Given the description of an element on the screen output the (x, y) to click on. 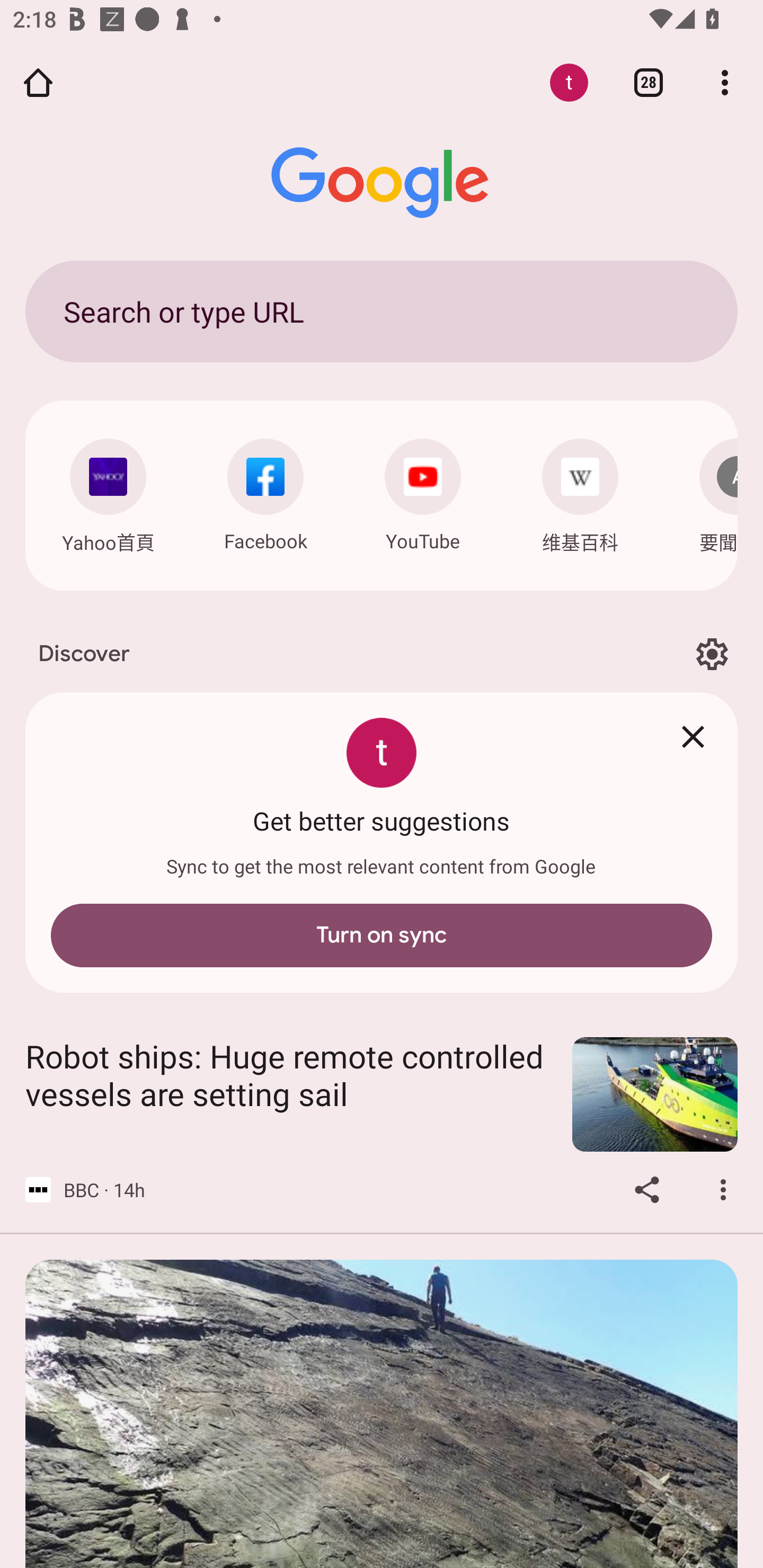
Open the home page (38, 82)
Switch or close tabs (648, 82)
Customize and control Google Chrome (724, 82)
Search or type URL (381, 311)
Navigate: Yahoo首頁: hk.mobi.yahoo.com Yahoo首頁 (107, 491)
Navigate: Facebook: m.facebook.com Facebook (265, 490)
Navigate: YouTube: m.youtube.com YouTube (422, 490)
Navigate: 维基百科: zh.m.wikipedia.org 维基百科 (579, 491)
Options for Discover (711, 654)
Close (692, 736)
Turn on sync (381, 934)
